Given the description of an element on the screen output the (x, y) to click on. 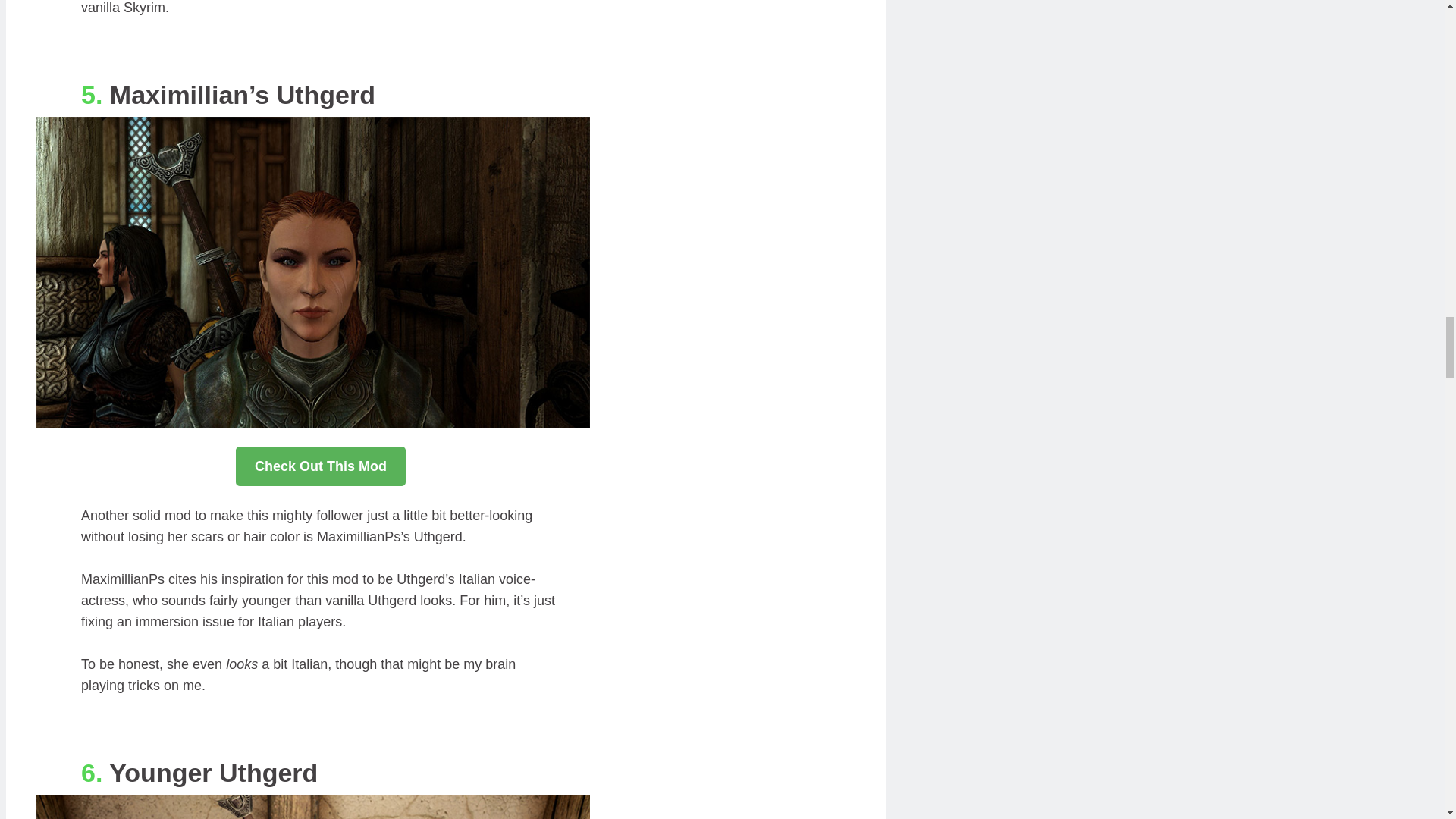
Check Out This Mod (320, 466)
